Given the description of an element on the screen output the (x, y) to click on. 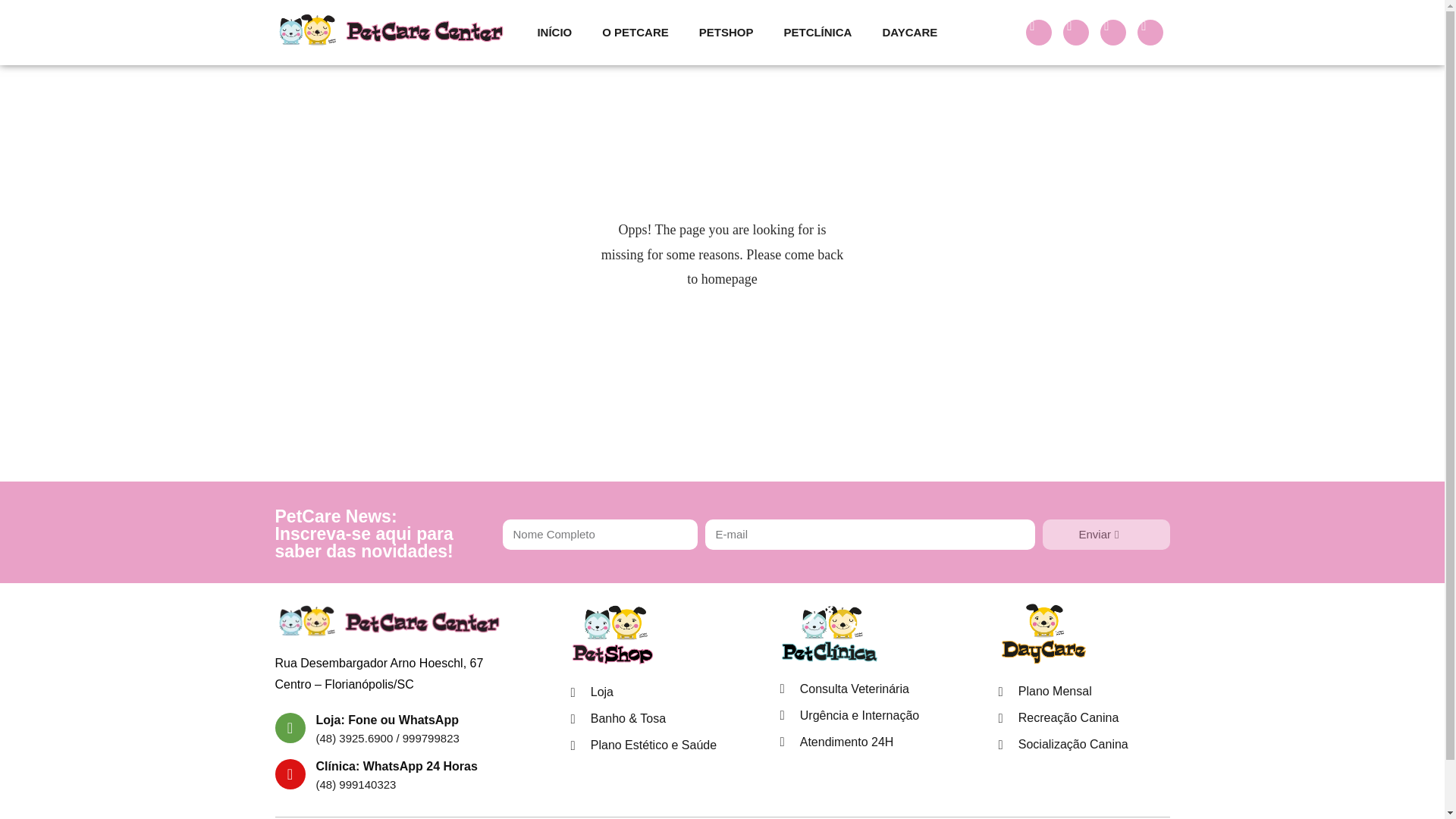
O PETCARE (635, 32)
Enviar (1105, 533)
Loja: Fone ou WhatsApp (386, 719)
DAYCARE (909, 32)
PETSHOP (726, 32)
